Given the description of an element on the screen output the (x, y) to click on. 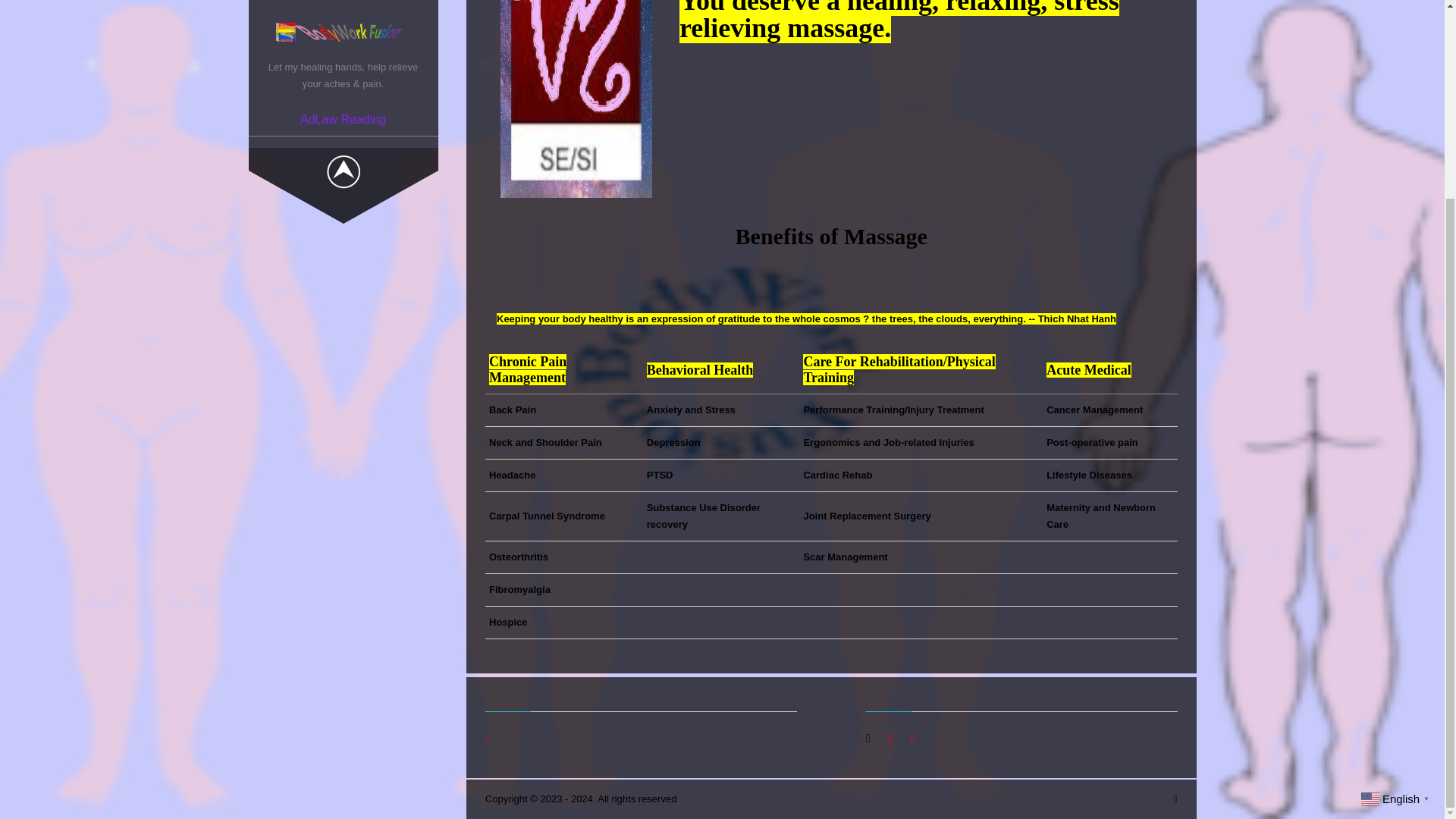
Neck and Shoulder Pain (545, 441)
Reduce chemotherapy-related nausea (831, 296)
Improve quality of life in hospice care (830, 358)
Promote relaxation (830, 792)
Decrease migraine frequency (830, 420)
Ergonomics and Job-related Injuries (888, 441)
Lower joint replacement pain (830, 544)
Help chronic neck pain (830, 606)
Depression (673, 441)
